Given the description of an element on the screen output the (x, y) to click on. 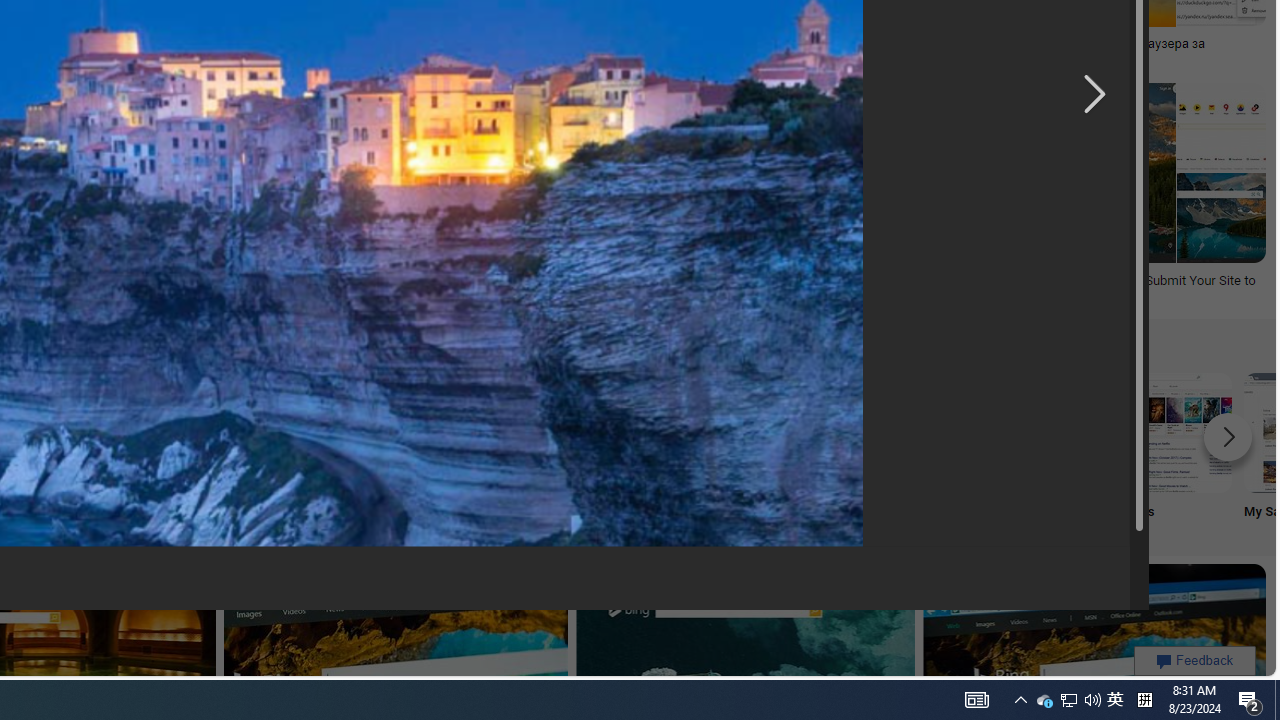
Bing the Search Engine Engine (248, 450)
Web Searching | Computer Applications for Managers (216, 287)
New Bing Image Search New (775, 450)
App (511, 450)
New (775, 450)
Bing Search App App (511, 450)
Random (116, 450)
Bing Can Now Search for Any Object in an Image (689, 44)
Bing Search App (511, 432)
Bing Intelligent Search (643, 432)
Bing the Search Engine (248, 432)
